Given the description of an element on the screen output the (x, y) to click on. 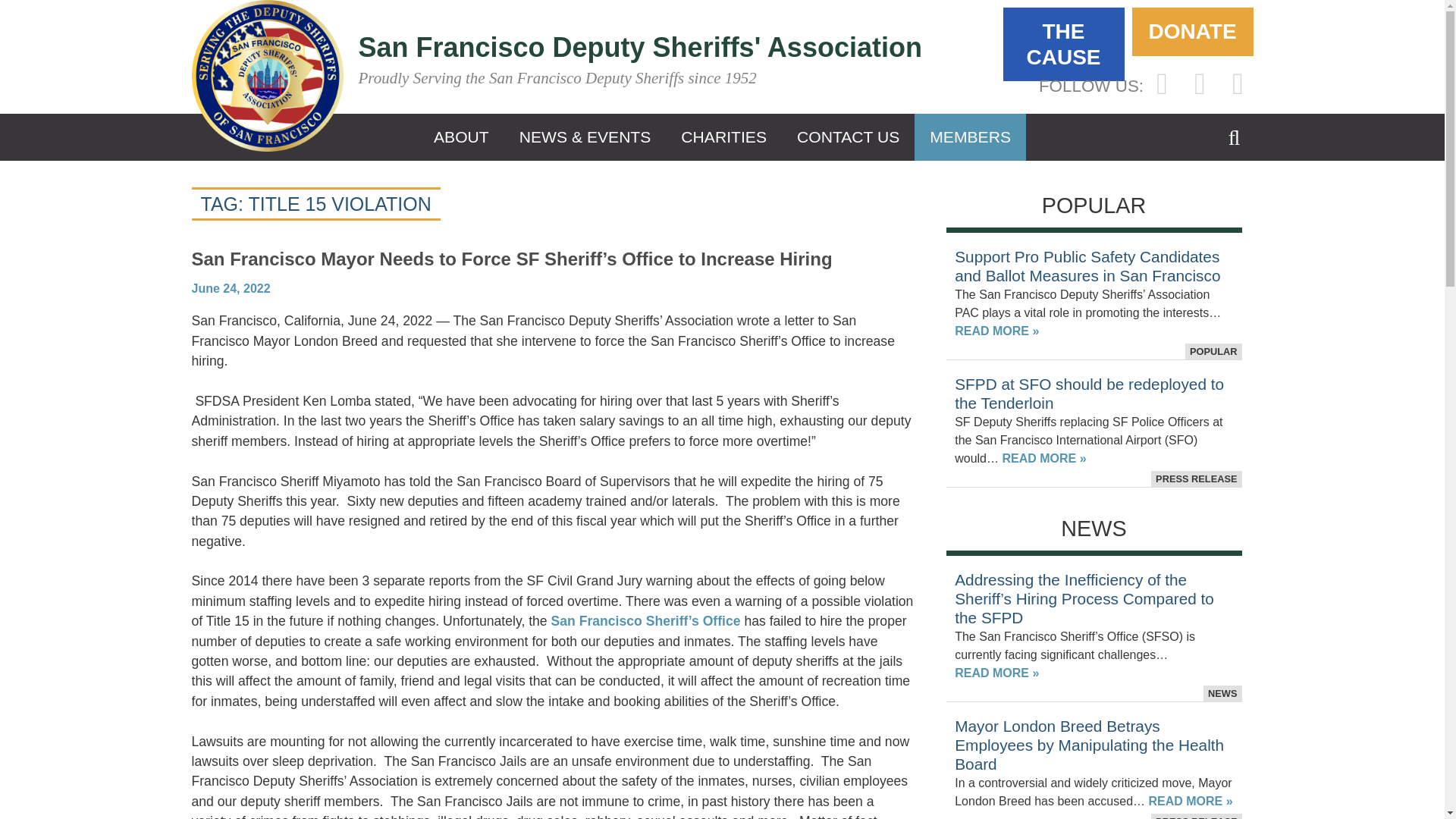
DONATE (1191, 31)
Twitter (1199, 83)
June 24, 2022 (229, 287)
CHARITIES (723, 136)
ABOUT (461, 136)
YouTube (1237, 83)
CONTACT US (847, 136)
Search (1234, 148)
THE CAUSE (1063, 44)
San Francisco Deputy Sheriffs' Association (639, 47)
